Given the description of an element on the screen output the (x, y) to click on. 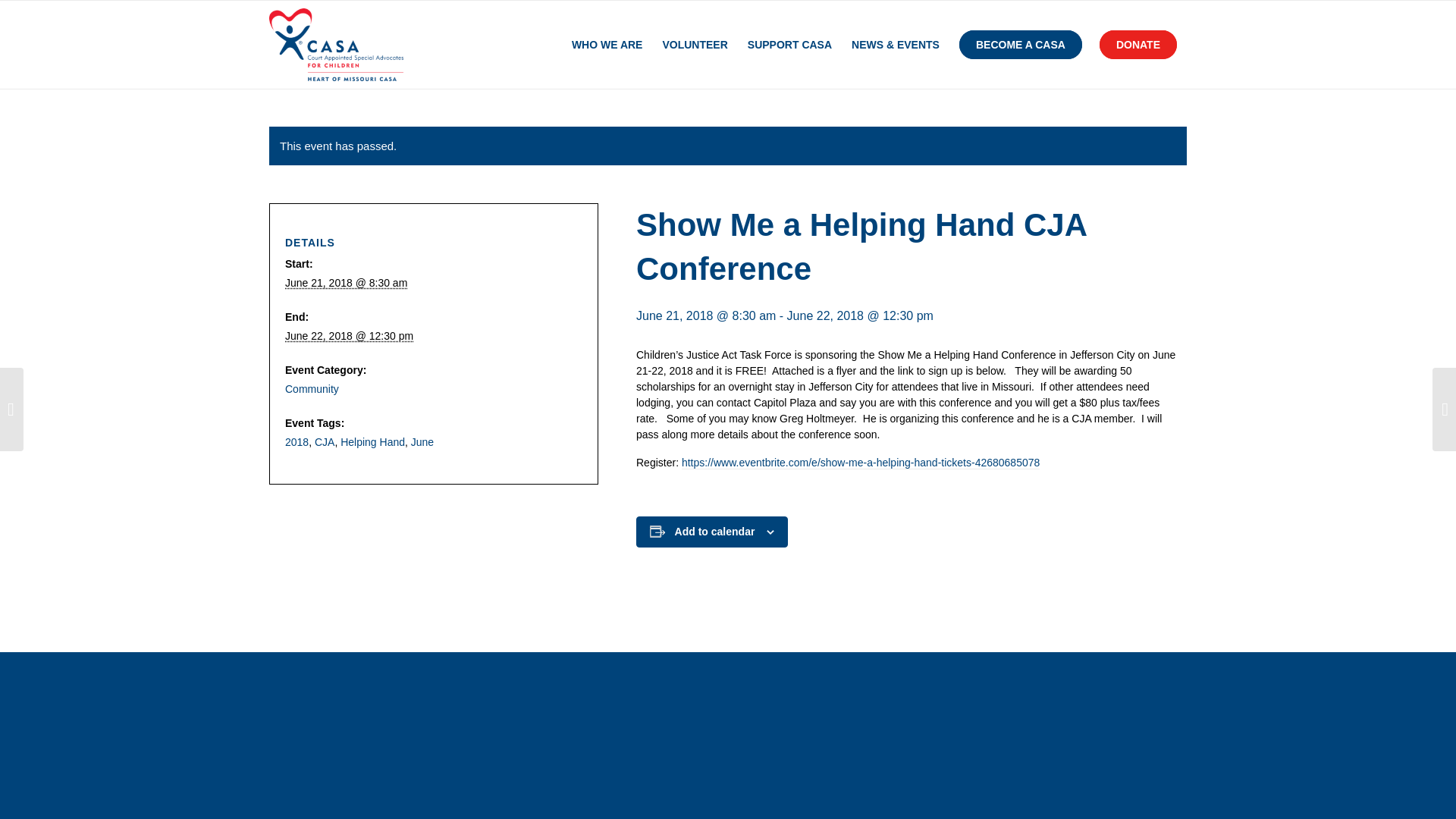
SUPPORT CASA (789, 44)
VOLUNTEER (694, 44)
2018-06-22 (349, 336)
BECOME A CASA (1020, 44)
Add to calendar (715, 531)
DONATE (1142, 44)
2018-06-21 (346, 282)
WHO WE ARE (607, 44)
